Given the description of an element on the screen output the (x, y) to click on. 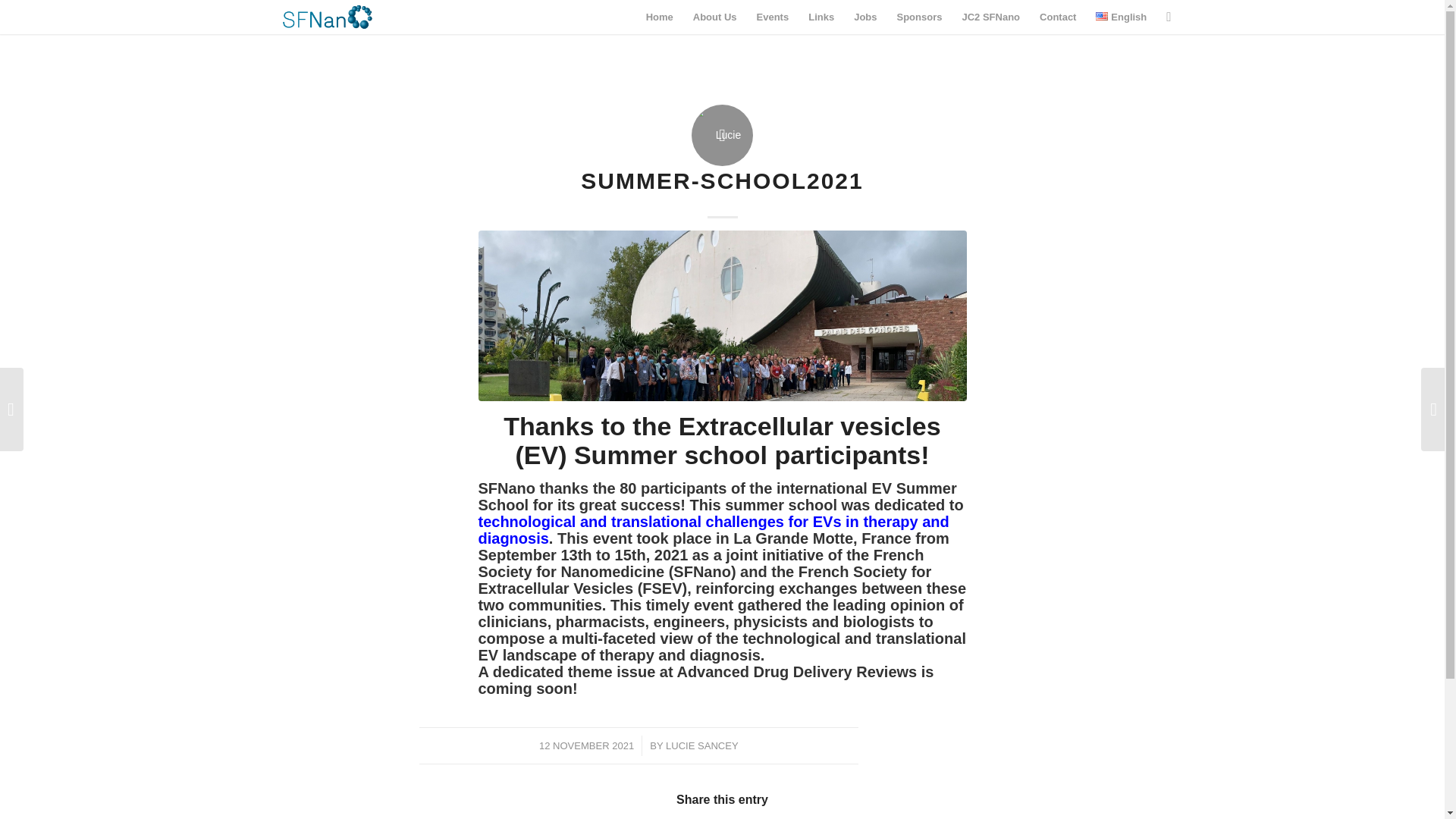
Permanent Link: summer-school2021 (721, 180)
Jobs (865, 17)
Links (820, 17)
Home (659, 17)
Sponsors (919, 17)
JC2 SFNano (990, 17)
Posts by Lucie Sancey (701, 745)
Events (772, 17)
summer-school2021 (721, 315)
About Us (714, 17)
